Given the description of an element on the screen output the (x, y) to click on. 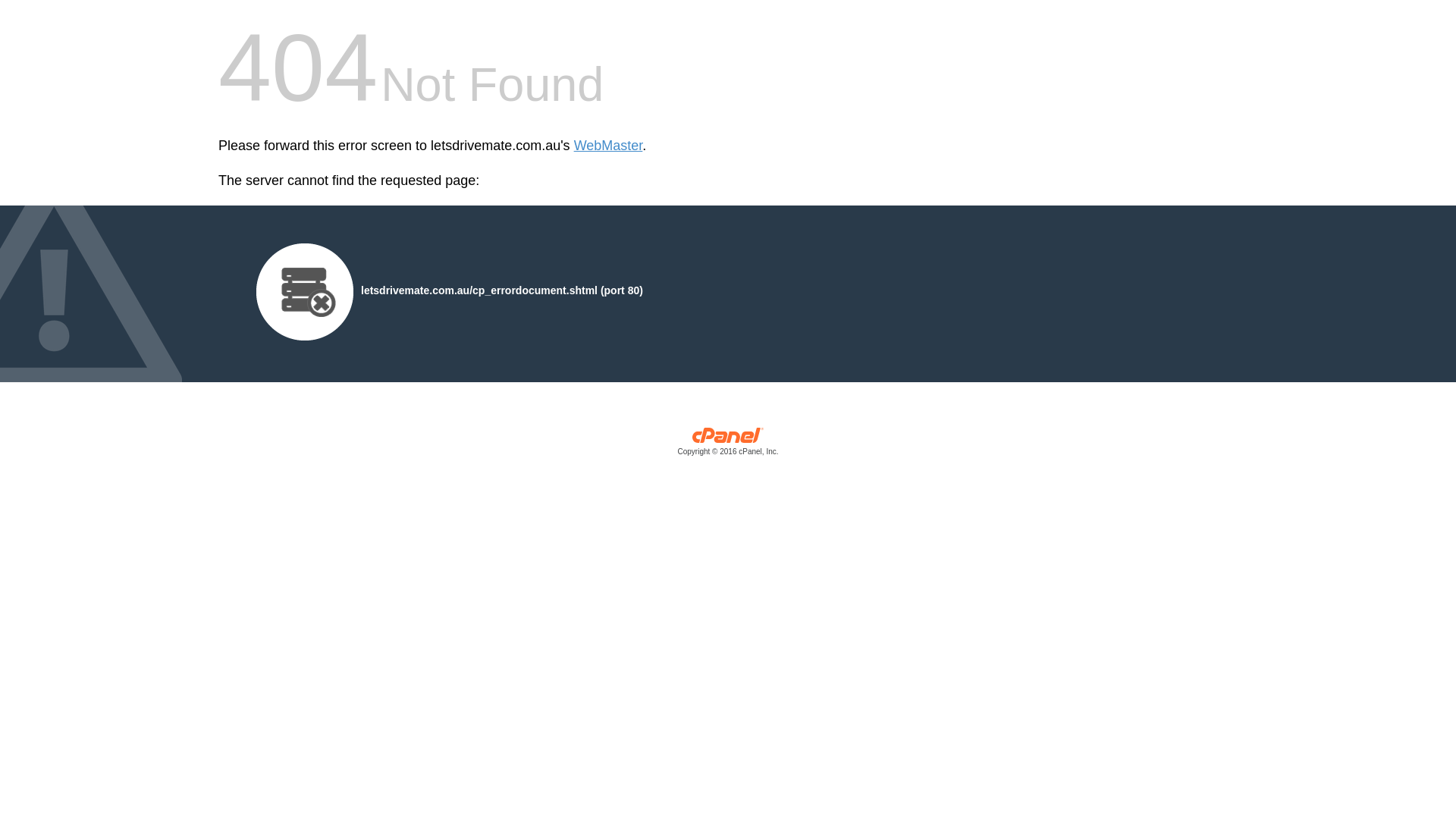
WebMaster Element type: text (608, 145)
